Given the description of an element on the screen output the (x, y) to click on. 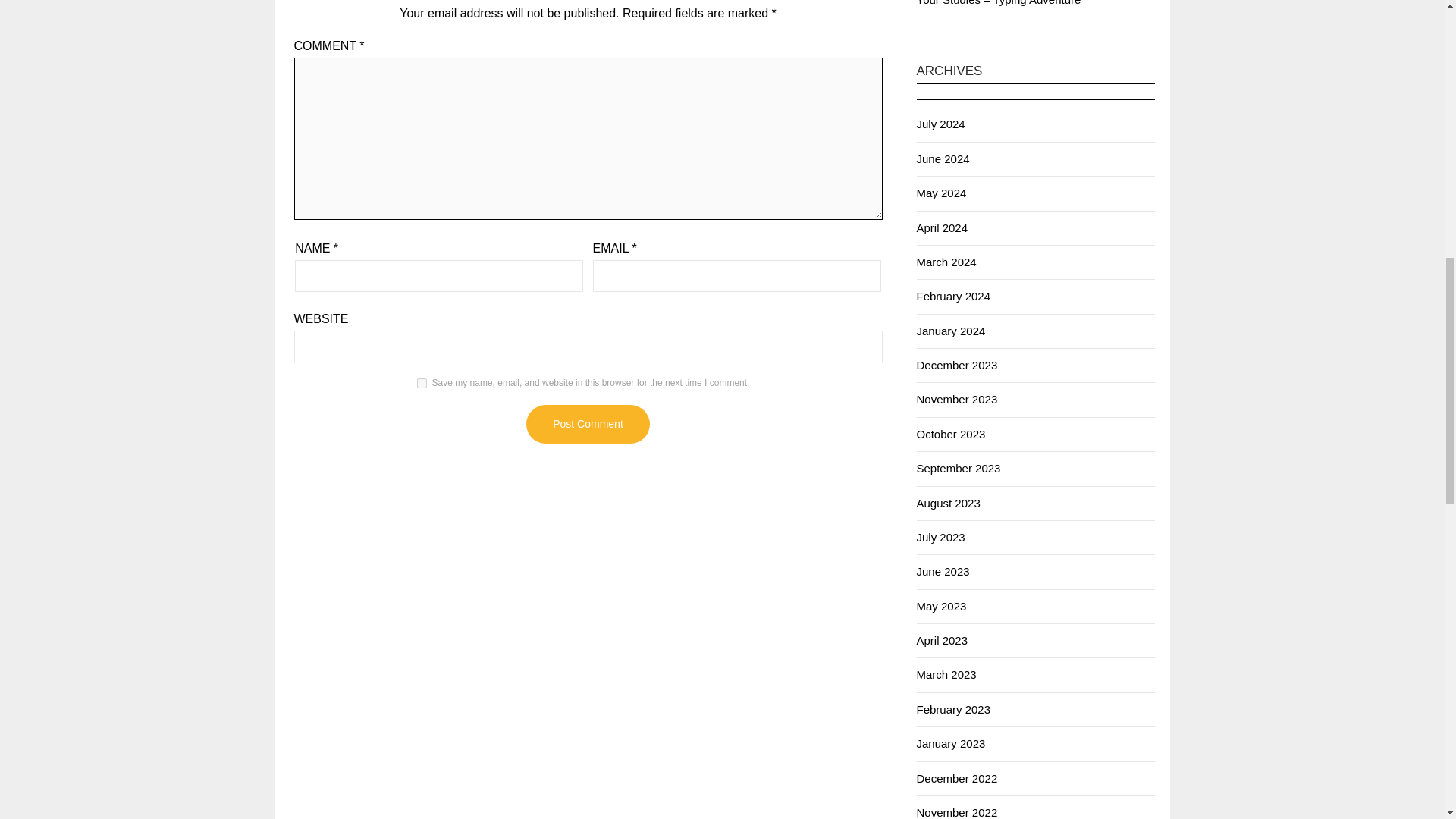
February 2023 (952, 708)
January 2023 (950, 743)
September 2023 (957, 468)
December 2023 (956, 364)
July 2024 (939, 123)
Post Comment (587, 423)
November 2023 (956, 399)
January 2024 (950, 330)
April 2023 (941, 640)
June 2024 (942, 158)
yes (421, 383)
March 2024 (945, 261)
May 2023 (940, 605)
August 2023 (947, 502)
June 2023 (942, 571)
